Given the description of an element on the screen output the (x, y) to click on. 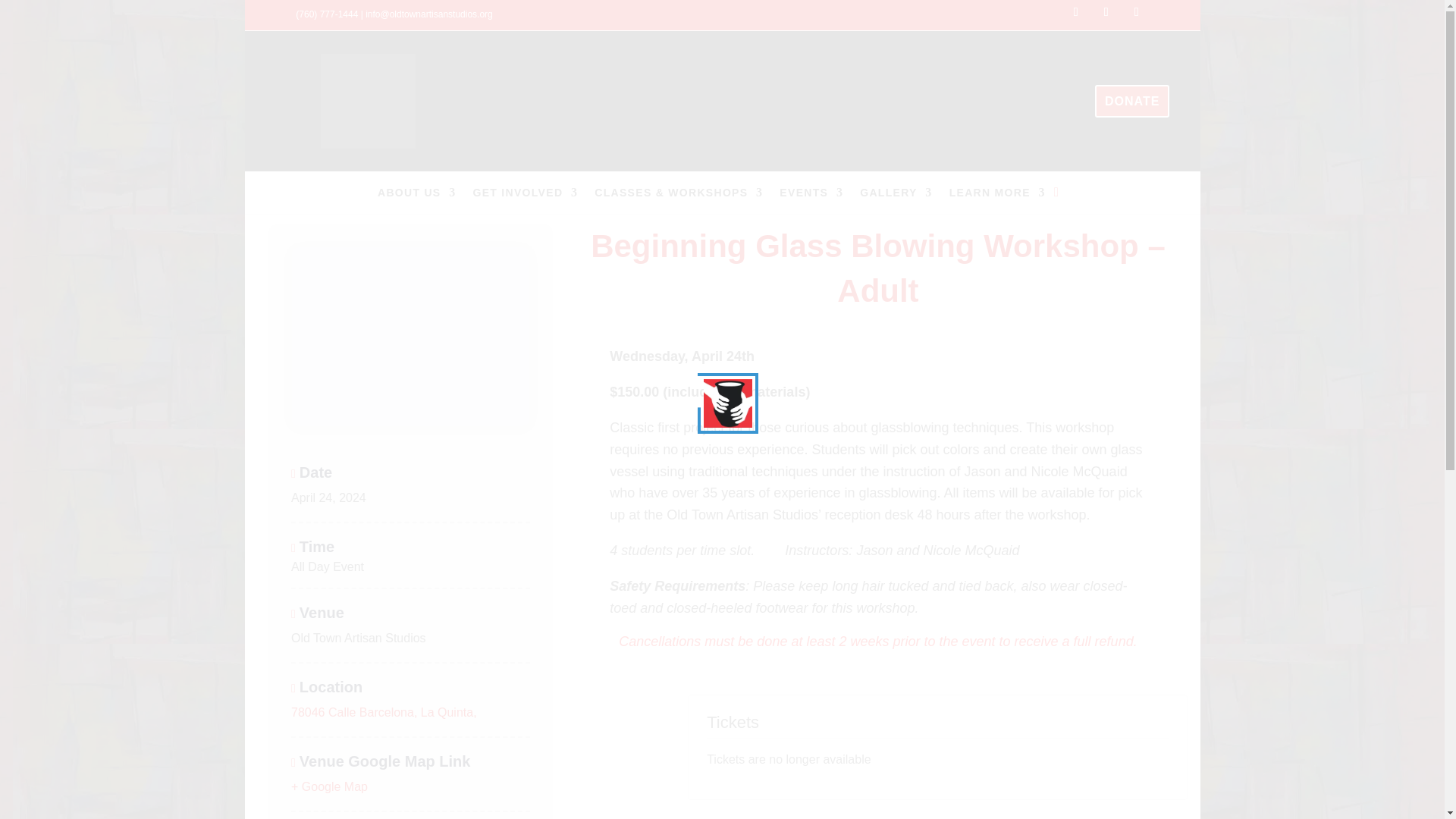
Follow on Facebook (1075, 12)
GALLERY (895, 195)
Beginning Glass Blowing Workshop (410, 336)
OTAS-125-1 (367, 101)
Follow on Instagram (1106, 12)
EVENTS (810, 195)
GET INVOLVED (525, 195)
DONATE (1131, 101)
LEARN MORE (997, 195)
Follow on Youtube (1136, 12)
